Given the description of an element on the screen output the (x, y) to click on. 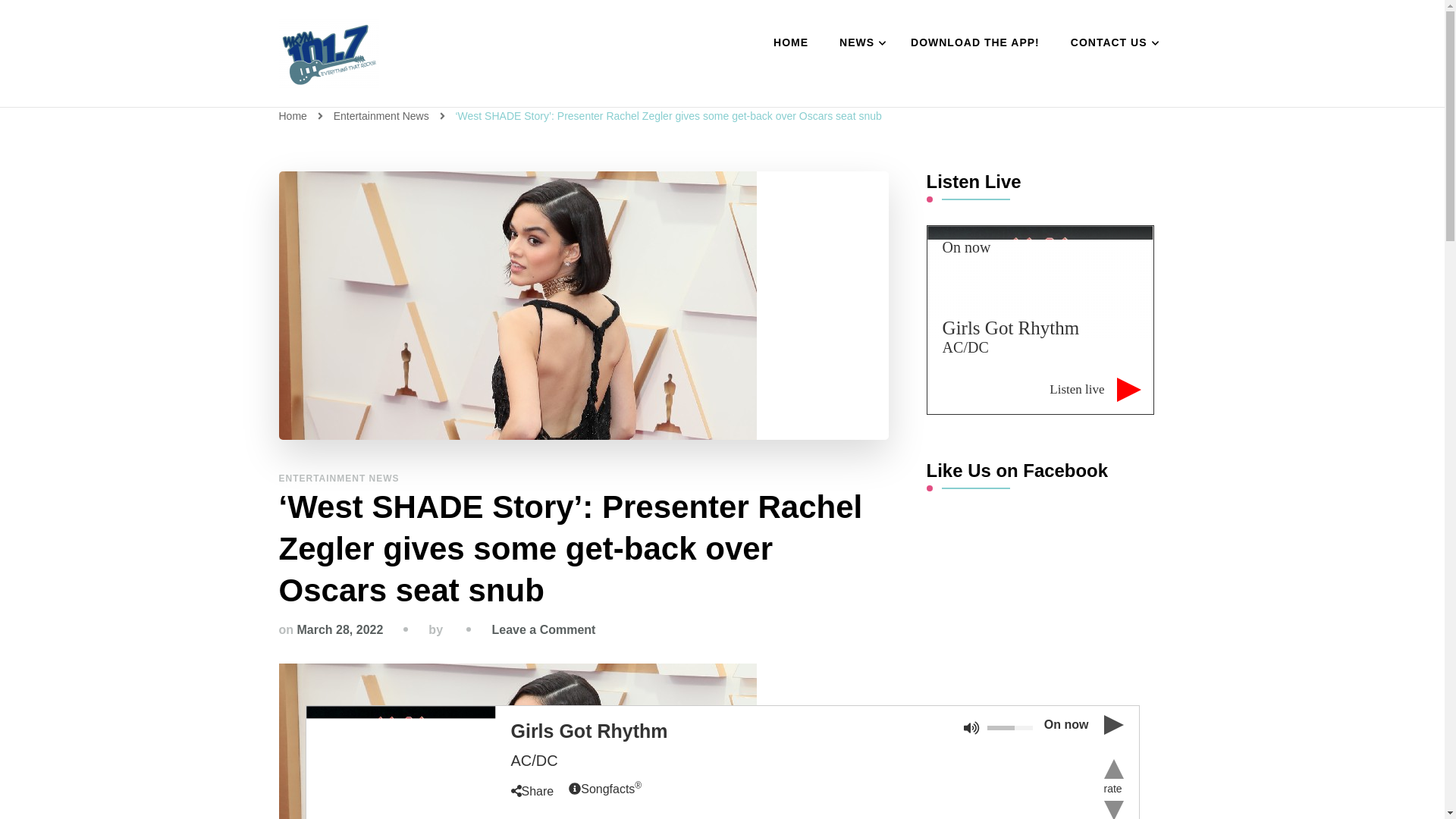
March 28, 2022 (340, 629)
ENTERTAINMENT NEWS (338, 478)
WKYM 101.7 (380, 104)
CONTACT US (1111, 43)
Home (293, 115)
Entertainment News (382, 115)
DOWNLOAD THE APP! (974, 43)
Expand (400, 762)
